Given the description of an element on the screen output the (x, y) to click on. 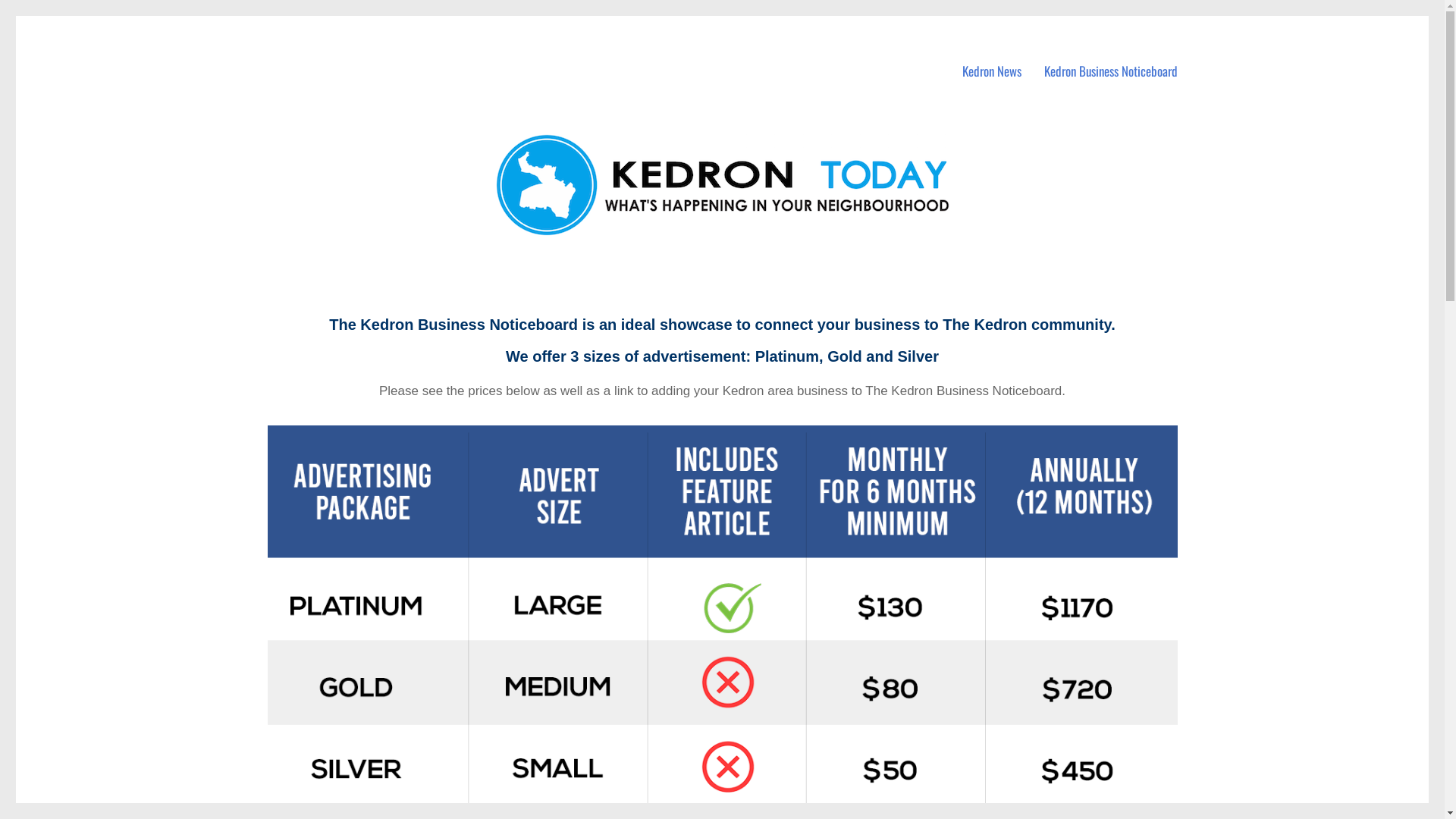
Kedron Today Element type: text (316, 44)
Kedron Business Noticeboard Element type: text (1110, 71)
Kedron News Element type: text (991, 71)
